Given the description of an element on the screen output the (x, y) to click on. 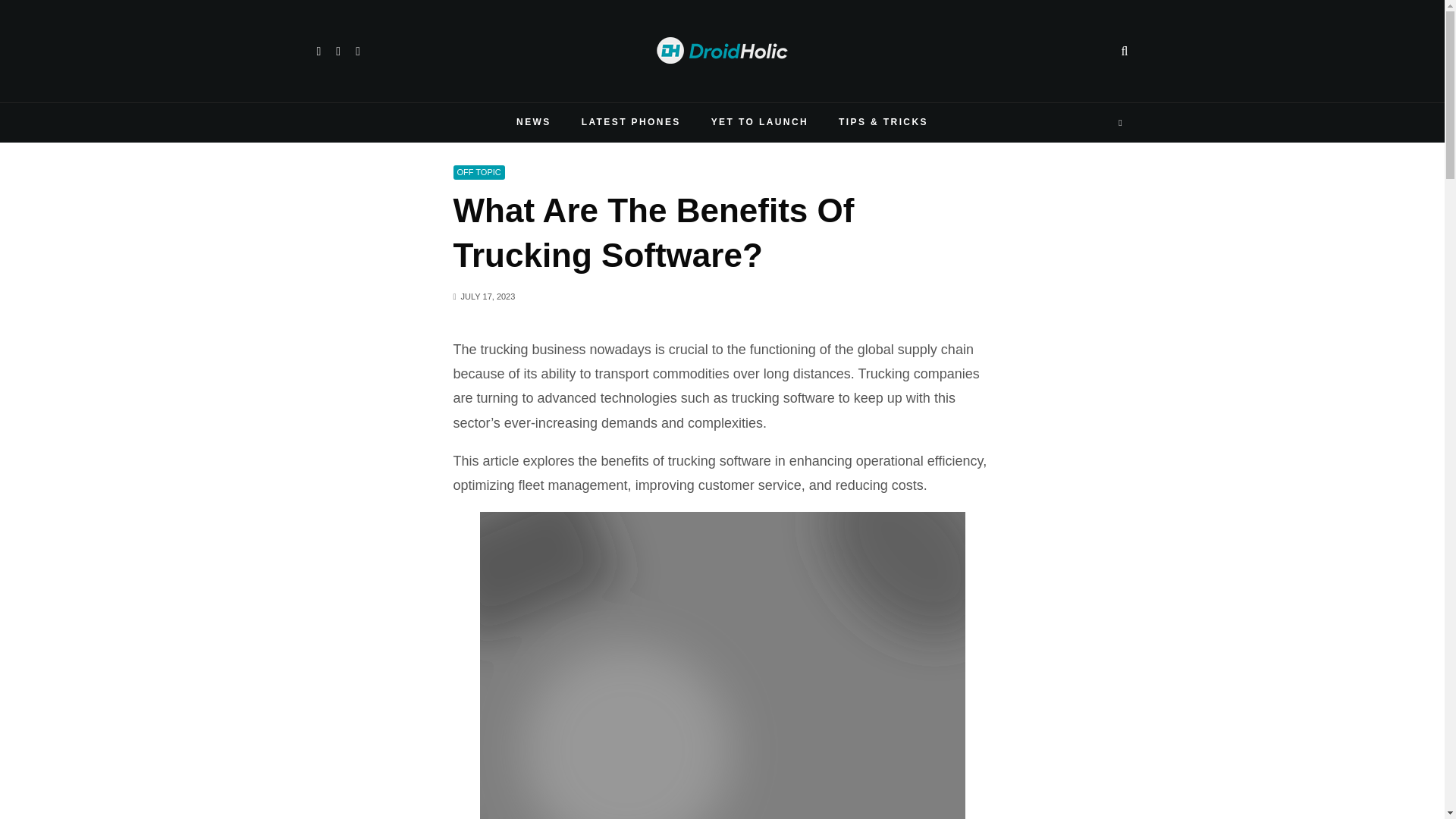
NEWS (533, 122)
LATEST PHONES (630, 122)
YET TO LAUNCH (759, 122)
